Given the description of an element on the screen output the (x, y) to click on. 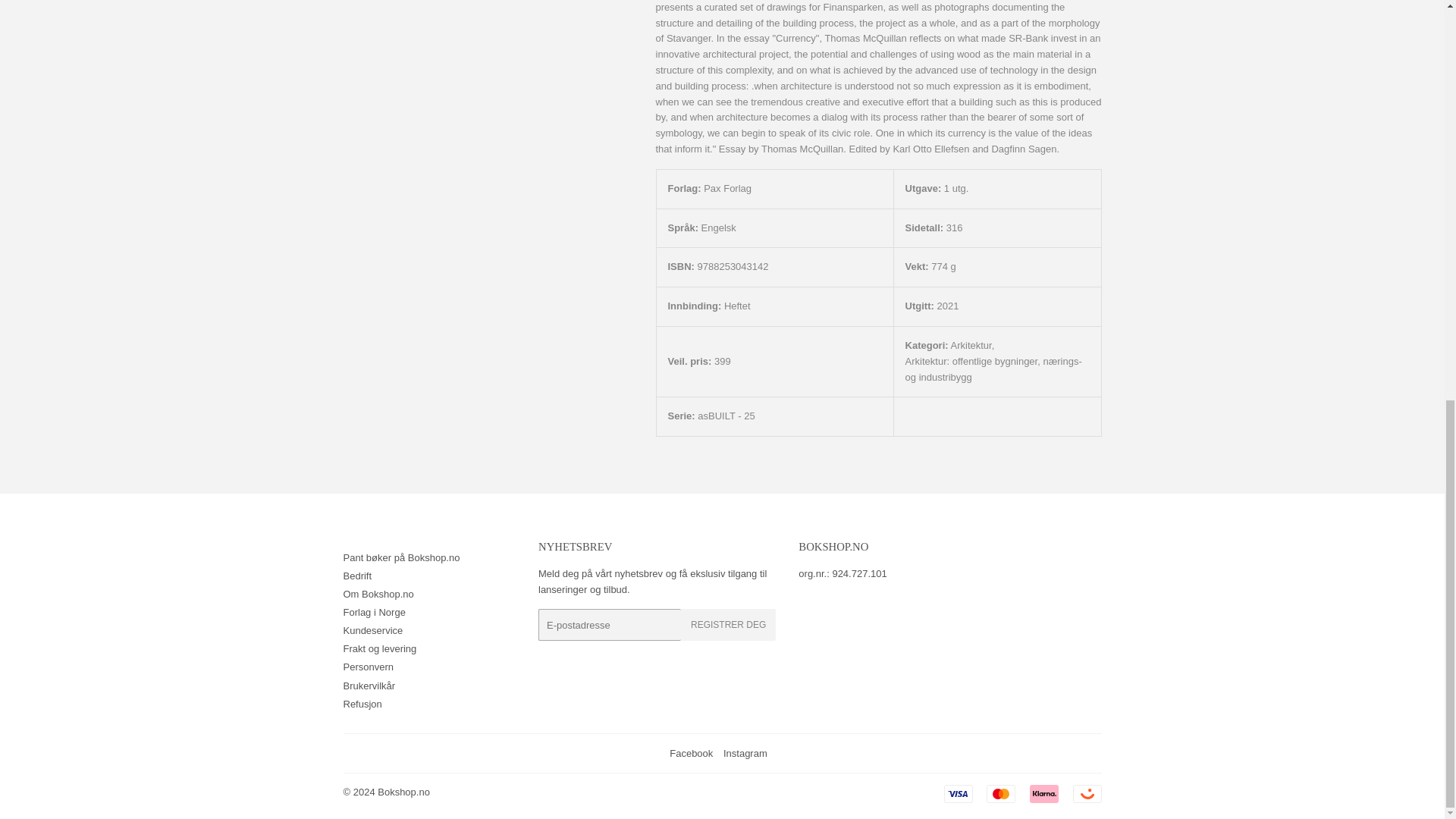
Bokshop.no (403, 791)
Vipps (1085, 793)
Facebook (691, 753)
Kundeservice (372, 630)
Visa (957, 793)
Personvern (367, 666)
Om Bokshop.no (377, 593)
REGISTRER DEG (728, 624)
Frakt og levering (379, 648)
Forlag i Norge (373, 612)
